Given the description of an element on the screen output the (x, y) to click on. 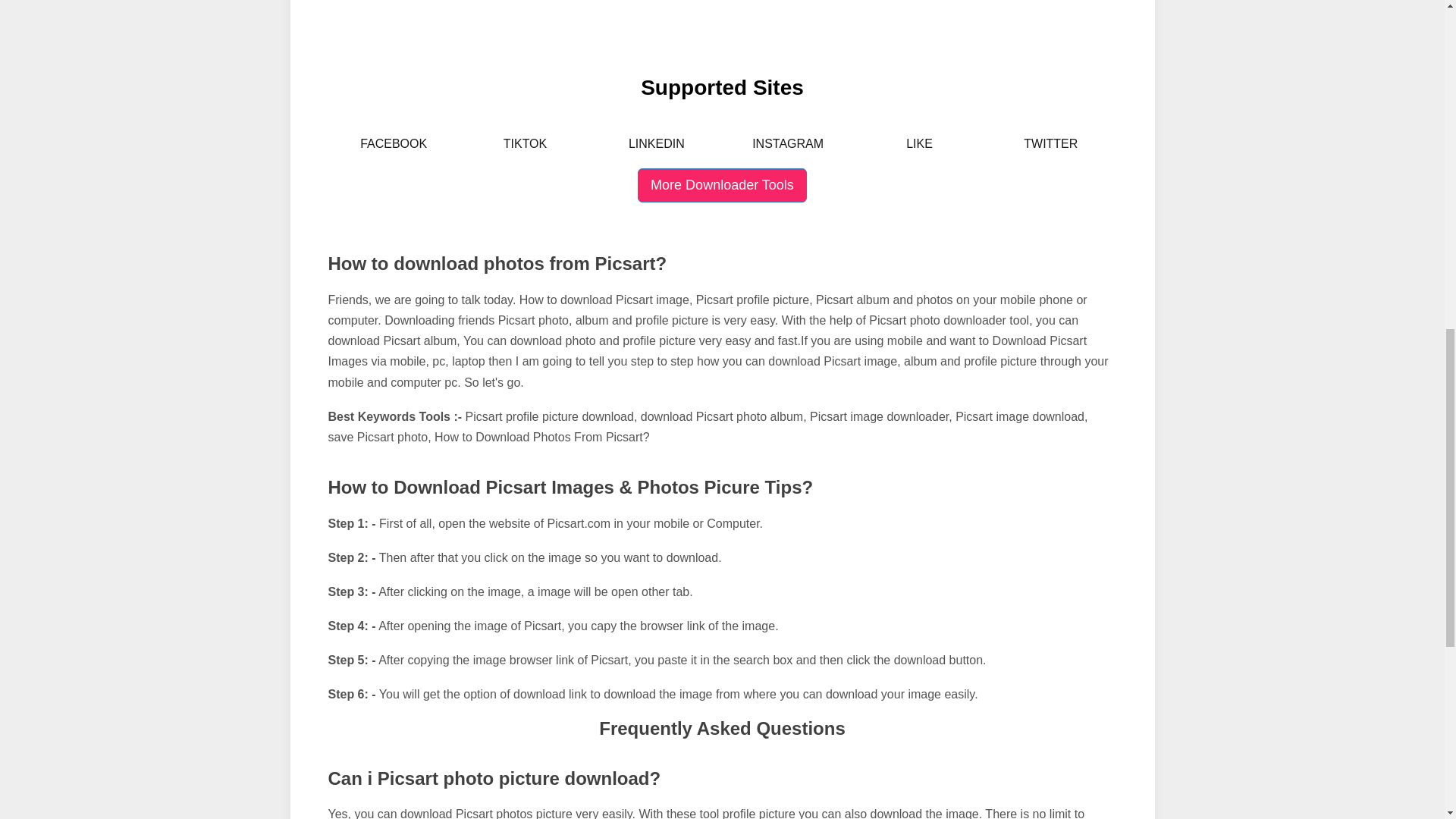
TWITTER (1050, 143)
TIKTOK (524, 143)
FACEBOOK (393, 143)
More Downloader Tools (721, 185)
INSTAGRAM (787, 143)
LIKE (919, 143)
LINKEDIN (656, 143)
